Given the description of an element on the screen output the (x, y) to click on. 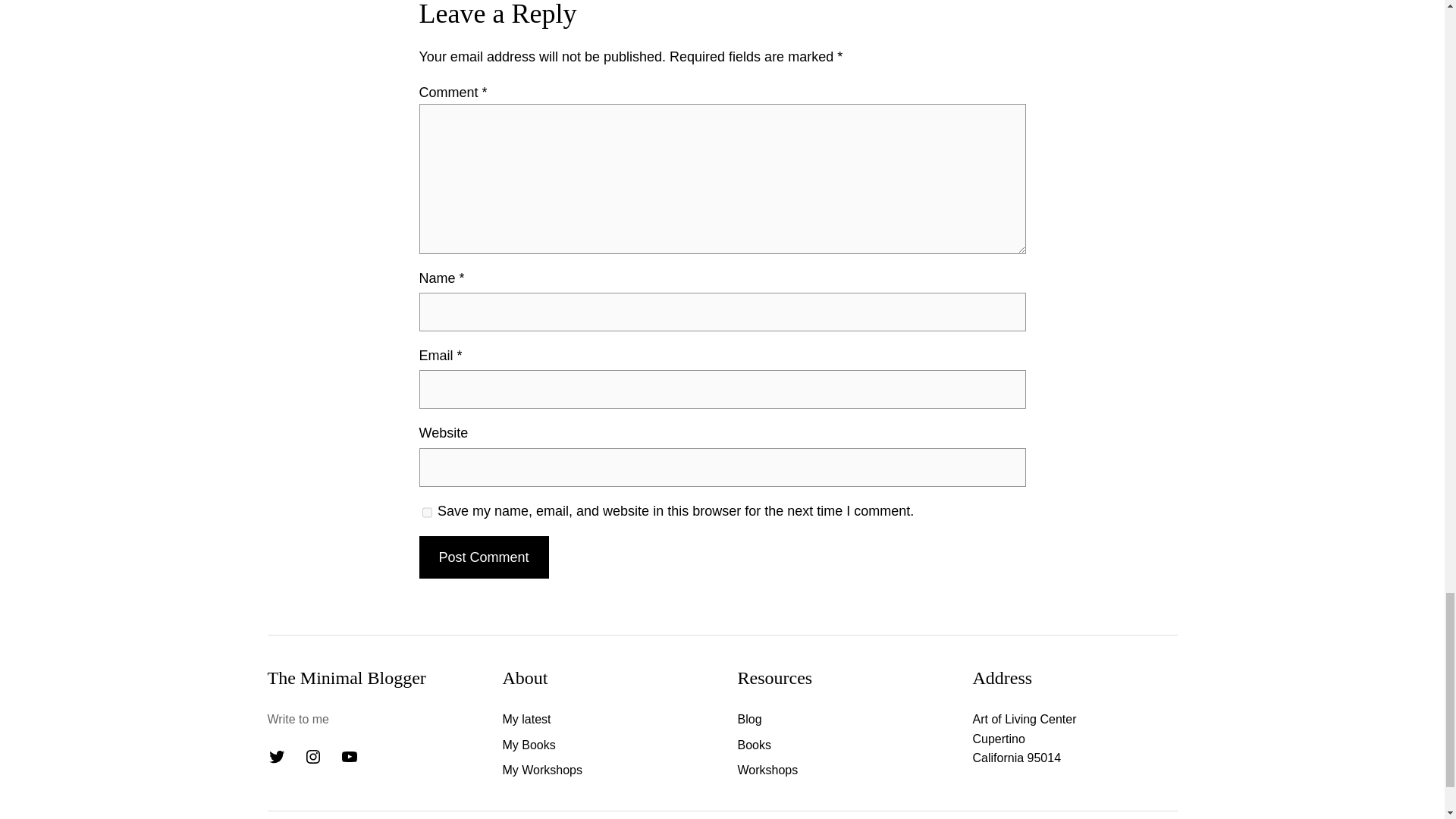
Workshops (766, 770)
Post Comment (483, 557)
Post Comment (483, 557)
Twitter (275, 756)
Instagram (311, 756)
Blog (748, 719)
My Books (528, 745)
My Workshops (542, 770)
Books (753, 745)
YouTube (348, 756)
